Given the description of an element on the screen output the (x, y) to click on. 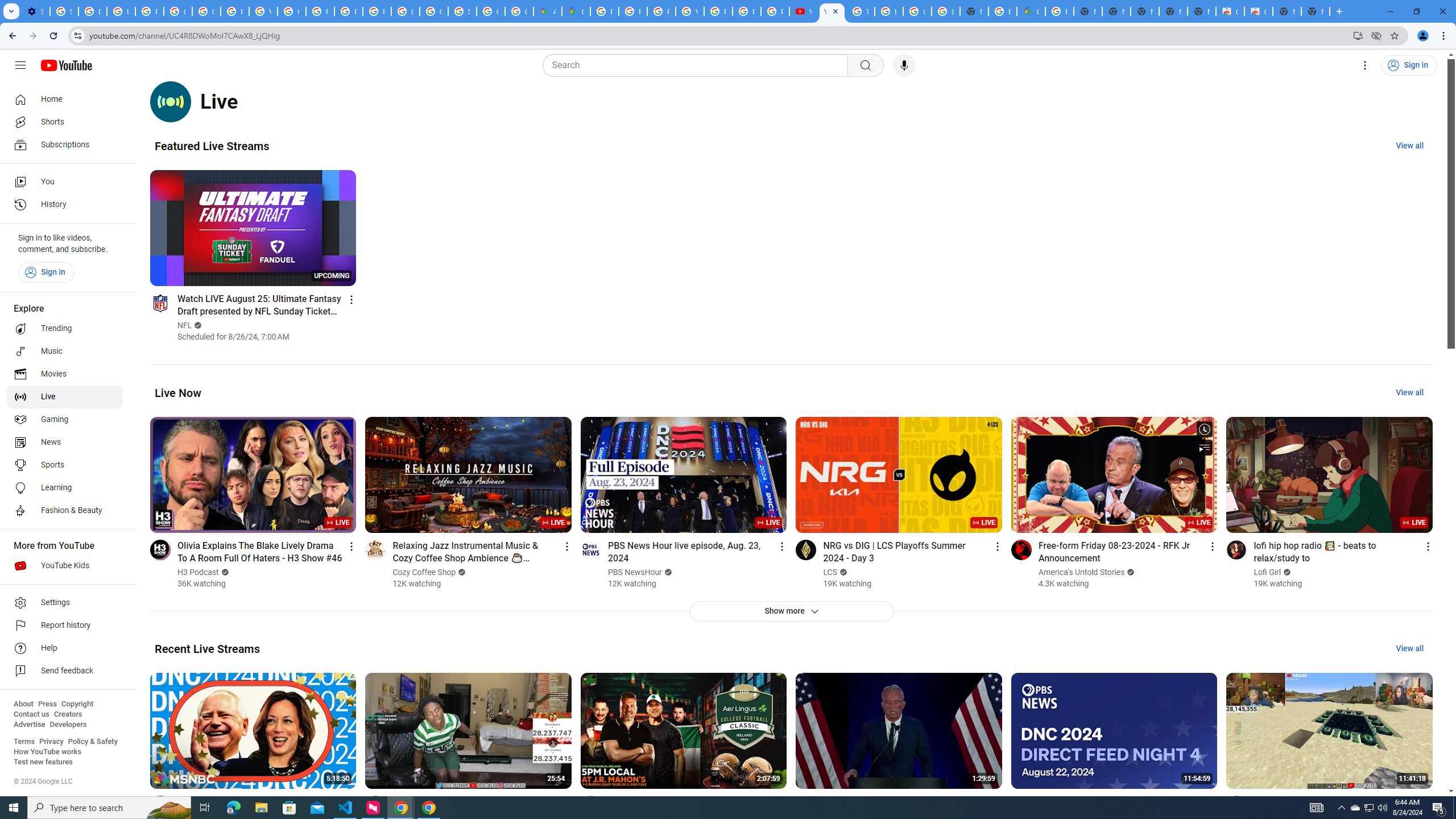
YouTube Kids (64, 565)
Privacy Checkup (746, 11)
Google Maps (1030, 11)
Privacy Checkup (774, 11)
Live (64, 396)
Settings - On startup (35, 11)
